Given the description of an element on the screen output the (x, y) to click on. 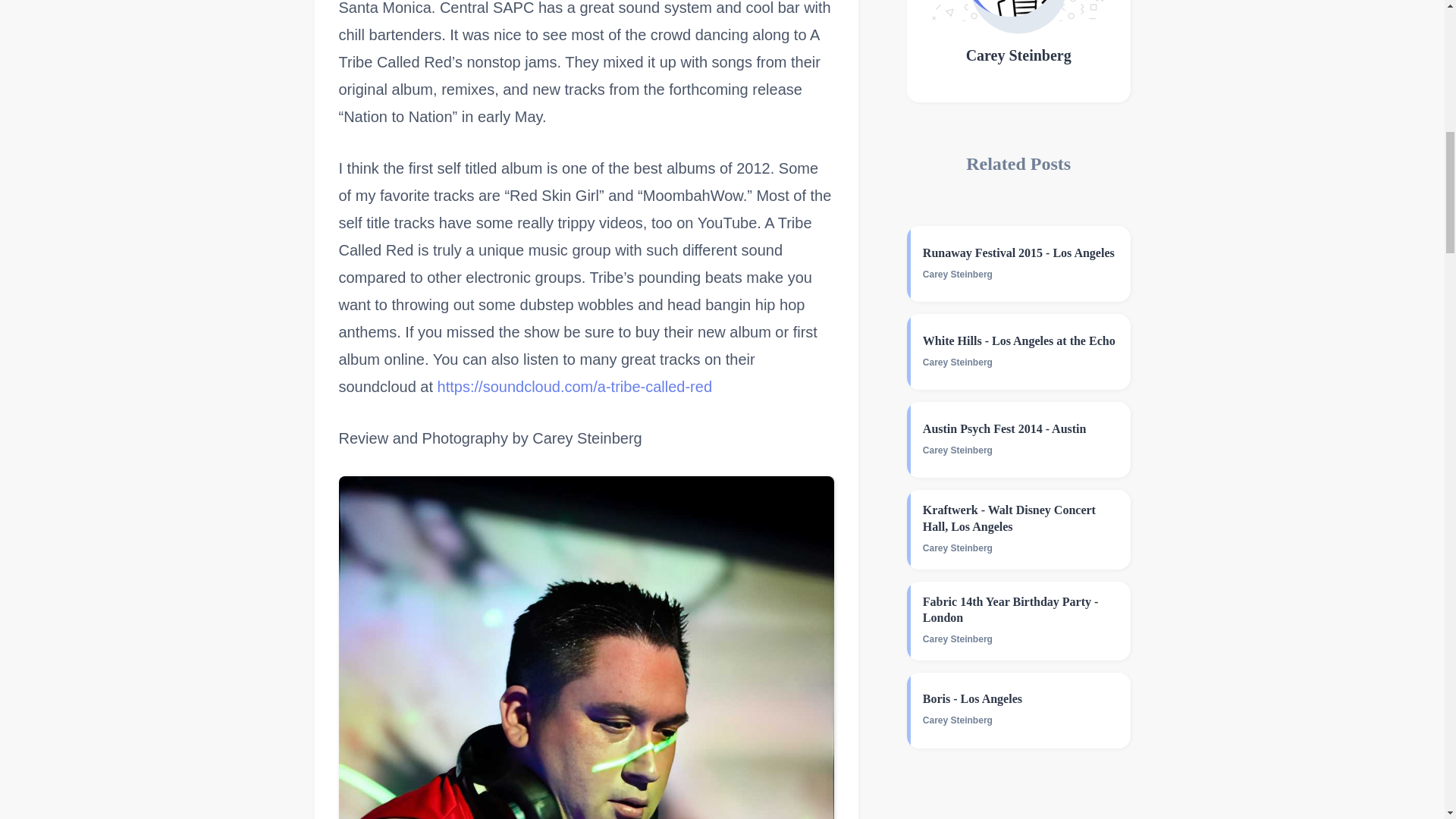
White Hills - Los Angeles at the Echo (1020, 340)
Carey Steinberg (957, 362)
Kraftwerk - Walt Disney Concert Hall, Los Angeles (1020, 518)
Carey Steinberg (957, 450)
Runaway Festival 2015 - Los Angeles (1020, 252)
Carey Steinberg (957, 274)
Austin Psych Fest 2014 - Austin (1020, 428)
Carey Steinberg (1018, 55)
